Given the description of an element on the screen output the (x, y) to click on. 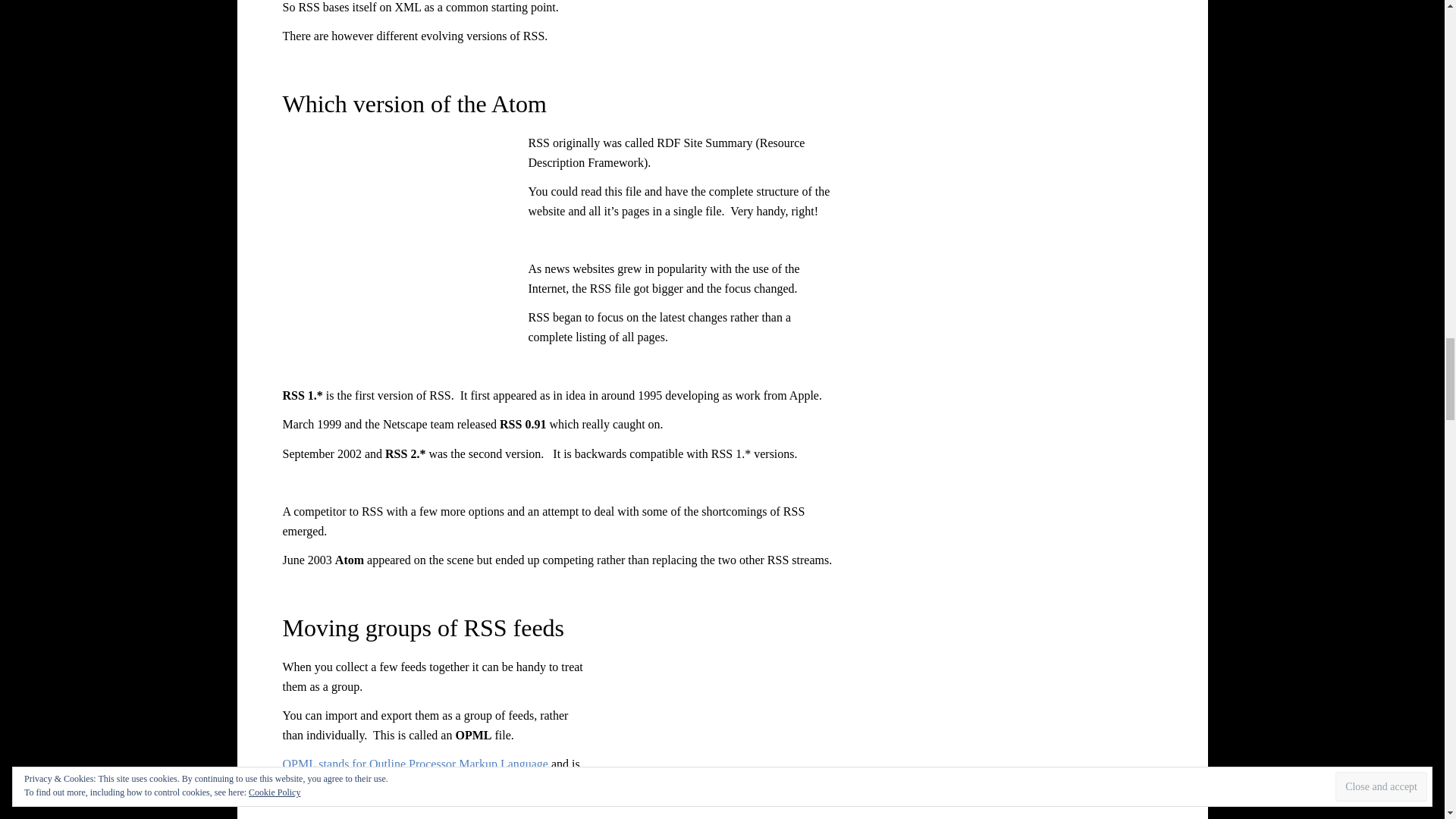
OPML stands for Outline Processor Markup Language (414, 763)
